Given the description of an element on the screen output the (x, y) to click on. 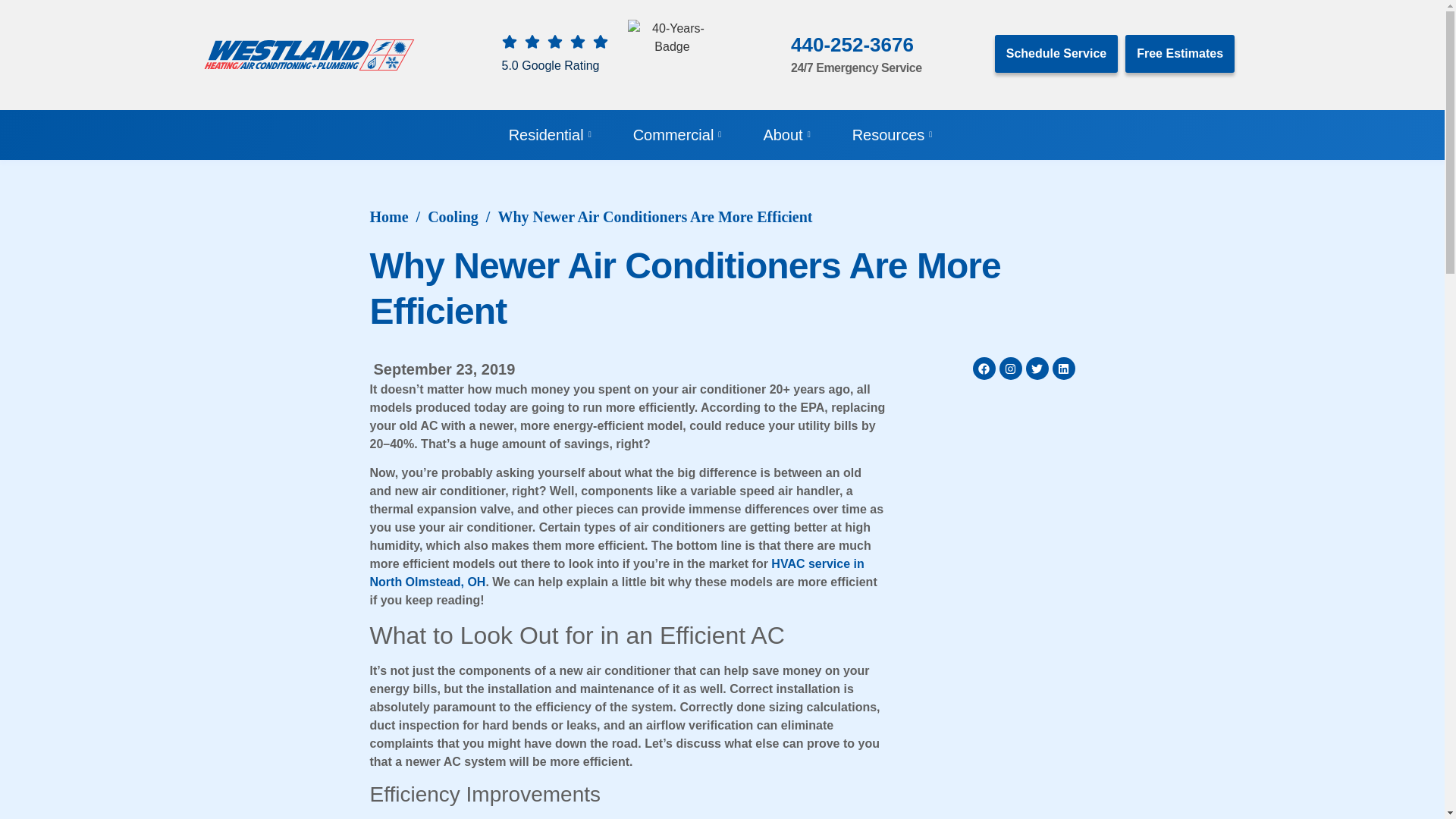
Residential (551, 134)
Schedule Service (1056, 53)
Free Estimates (1179, 53)
440-252-3676 (852, 44)
